Given the description of an element on the screen output the (x, y) to click on. 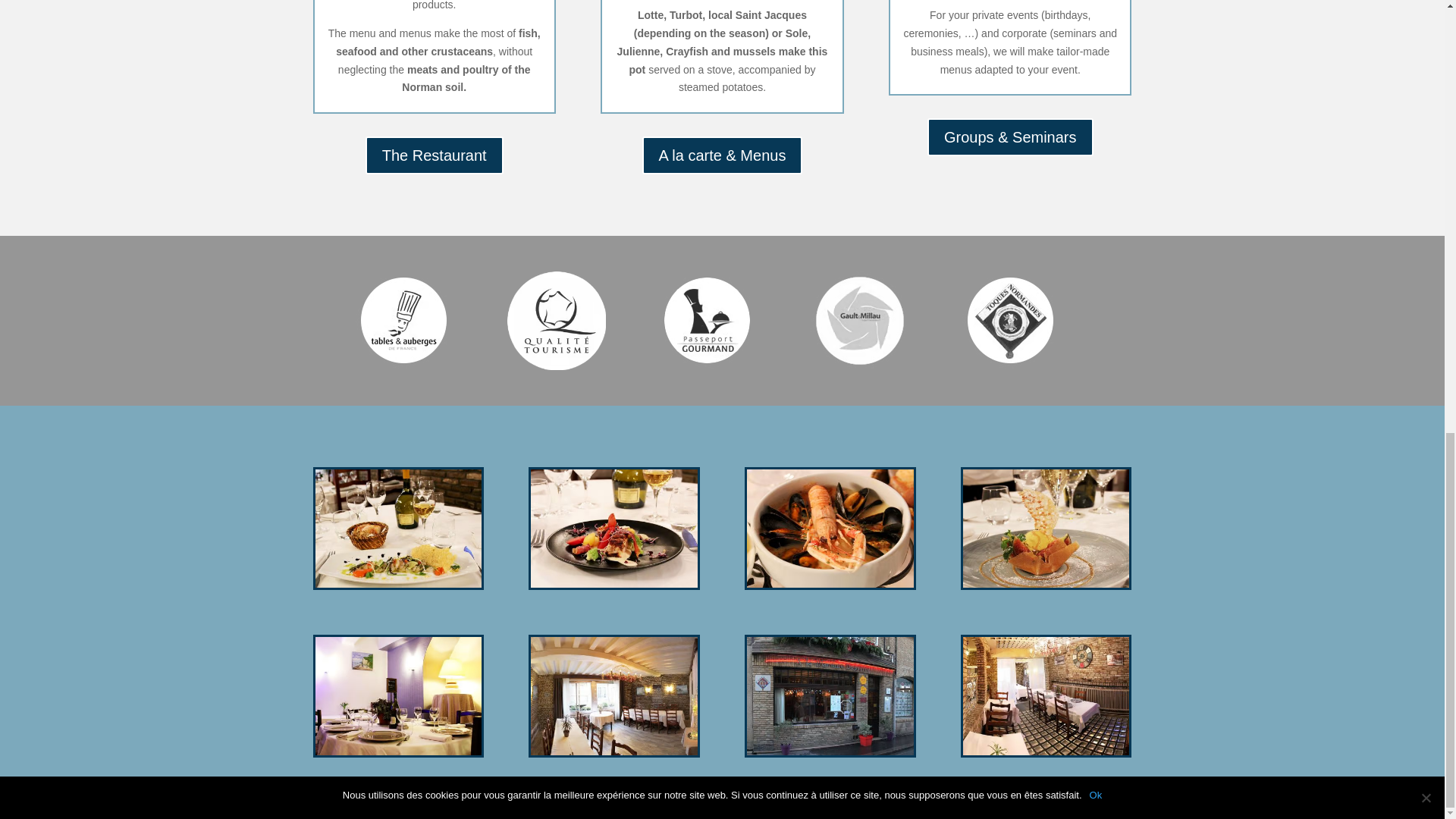
The Restaurant (434, 155)
restaurant dieppe toque normande (403, 320)
